Given the description of an element on the screen output the (x, y) to click on. 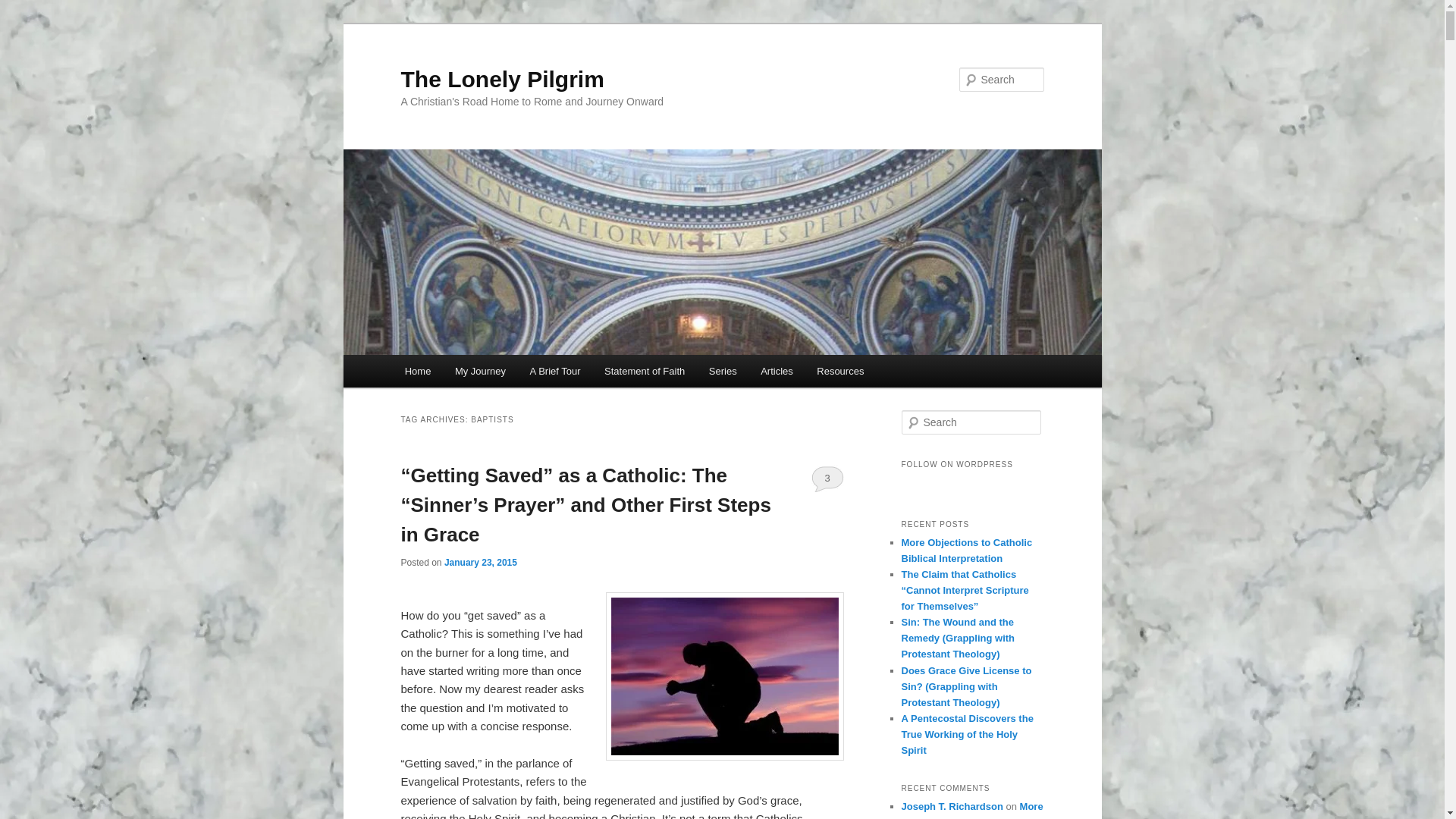
Resources (840, 370)
3 (827, 478)
A Brief Tour (555, 370)
7:30 am (480, 562)
Search (24, 8)
January 23, 2015 (480, 562)
Series (722, 370)
Articles (776, 370)
My Journey (480, 370)
